Given the description of an element on the screen output the (x, y) to click on. 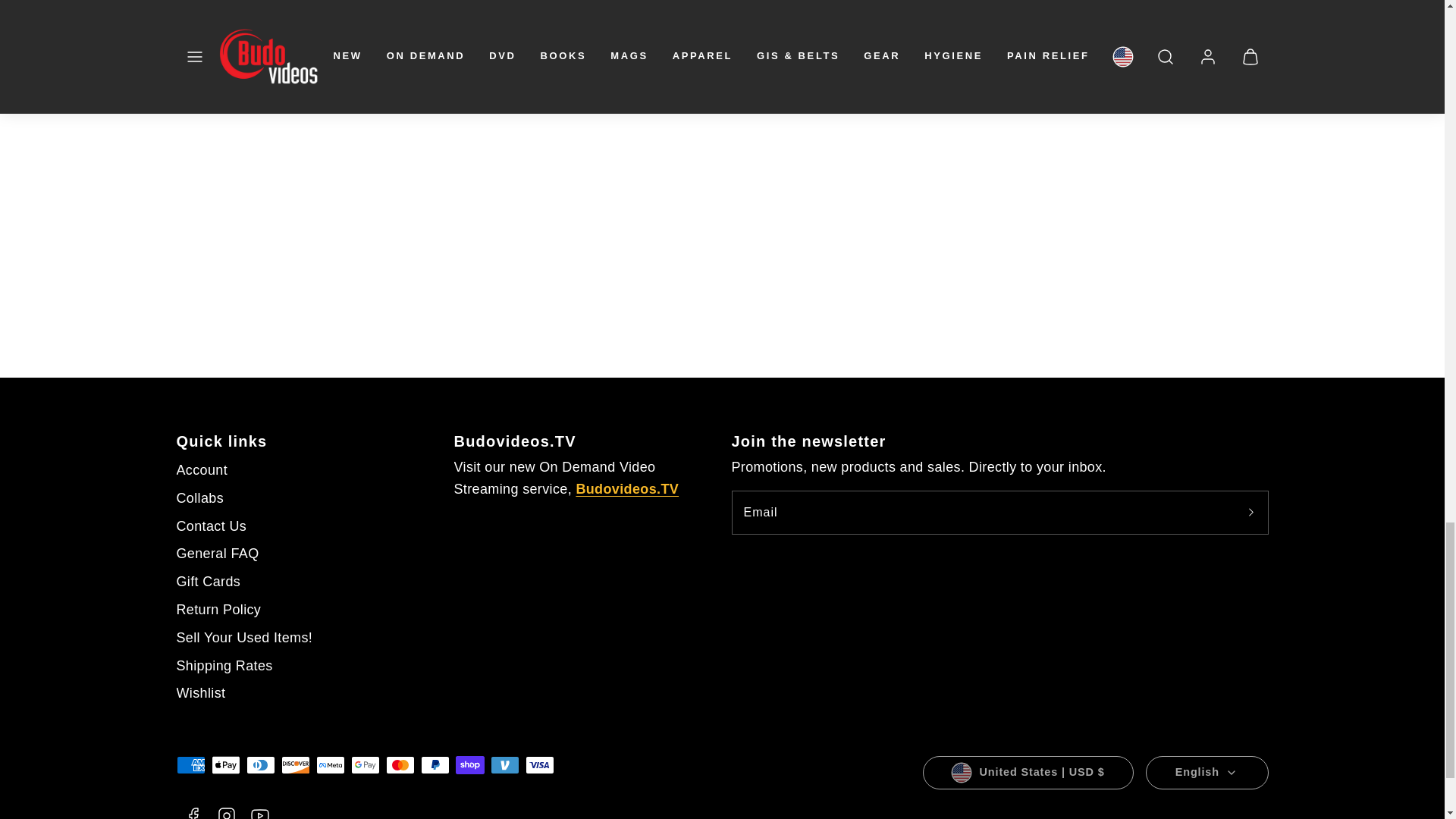
Venmo (503, 764)
PayPal (434, 764)
Meta Pay (329, 764)
Shop Pay (468, 764)
Google Pay (364, 764)
Visa (538, 764)
Discover (294, 764)
Mastercard (399, 764)
Apple Pay (225, 764)
Diners Club (260, 764)
American Express (190, 764)
